Given the description of an element on the screen output the (x, y) to click on. 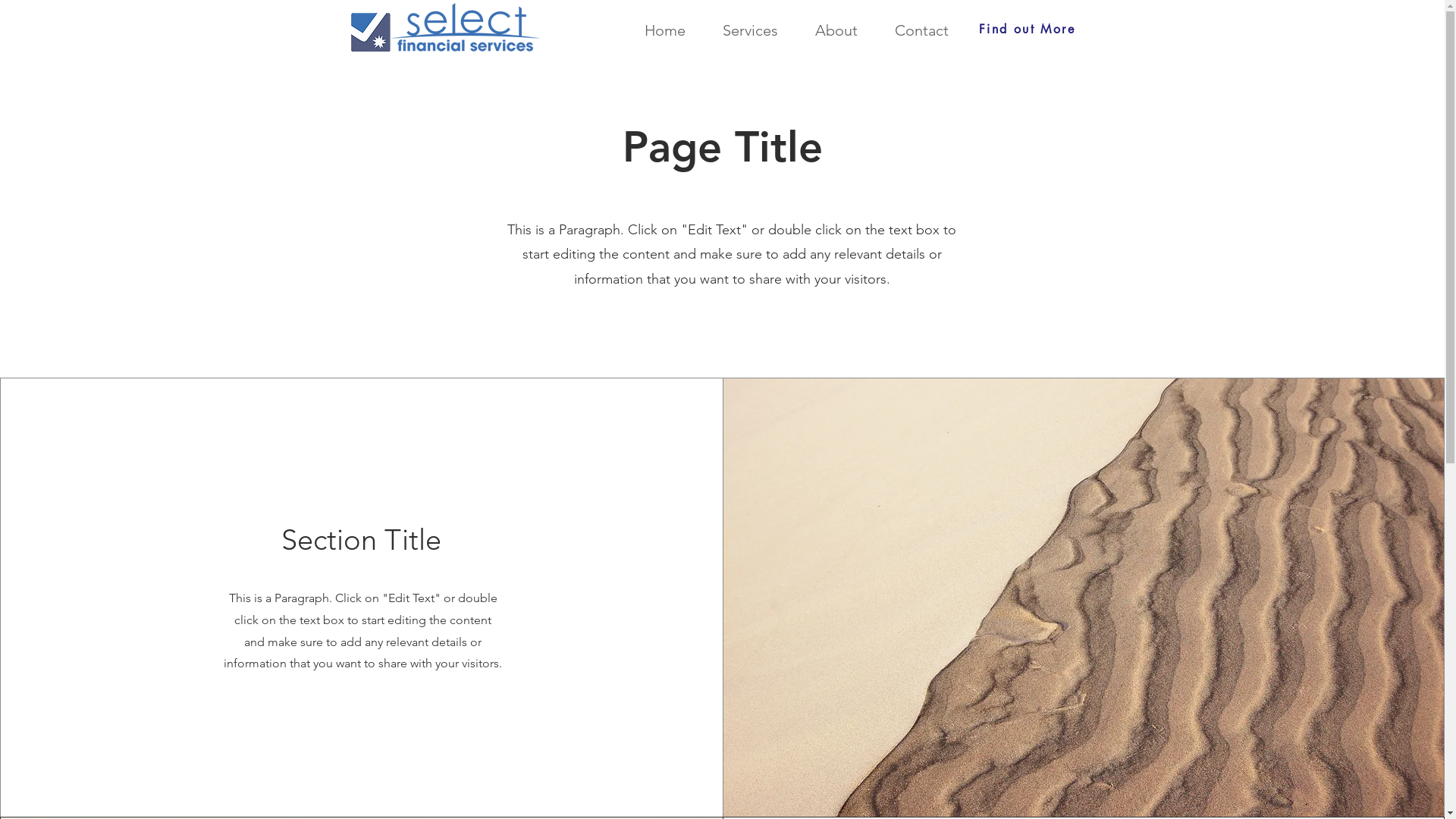
Home Element type: text (657, 30)
Services Element type: text (742, 30)
Contact Element type: text (914, 30)
About Element type: text (828, 30)
Find out More Element type: text (1027, 29)
